Given the description of an element on the screen output the (x, y) to click on. 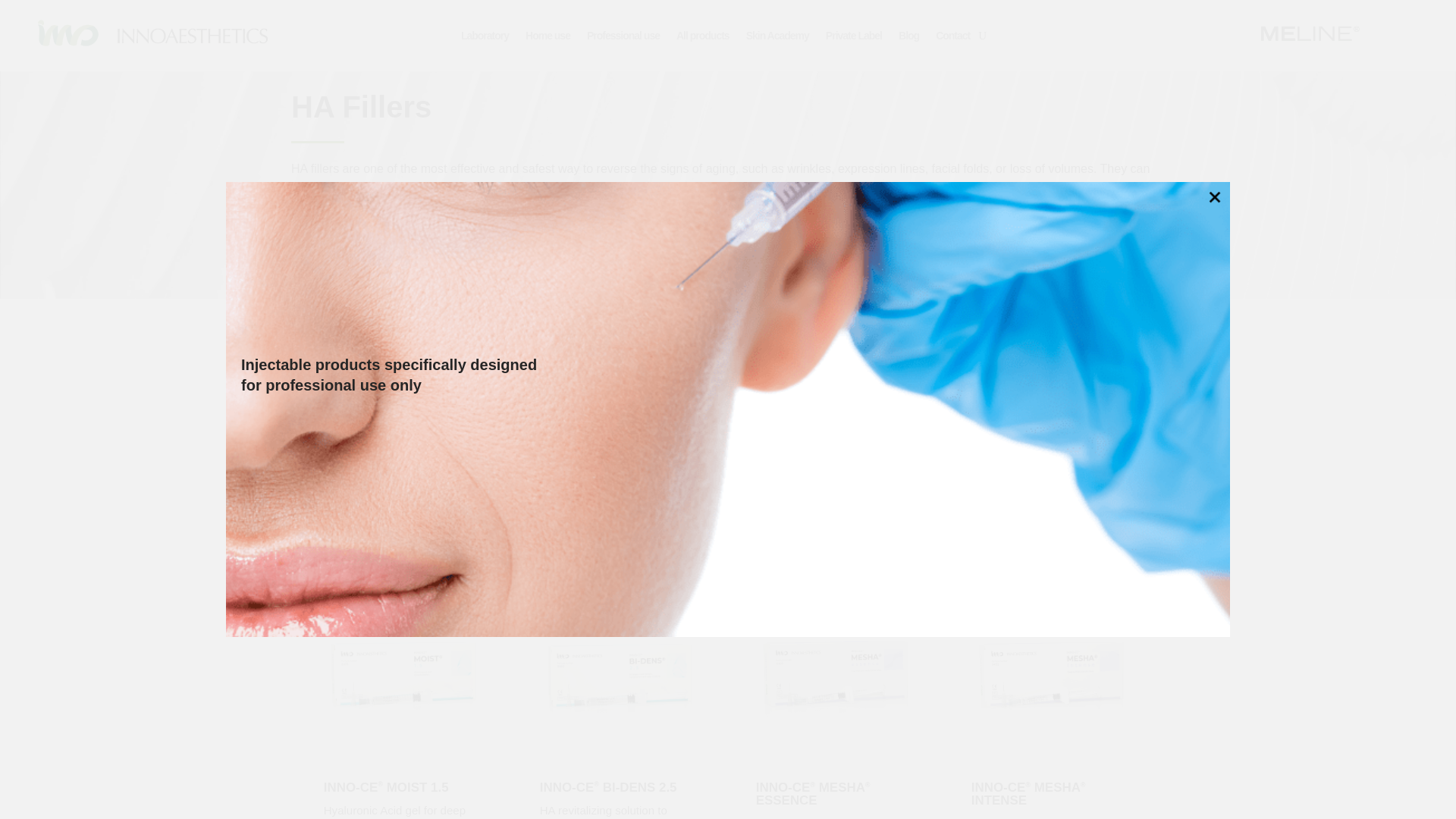
Close (1215, 196)
INNO-LOGO-NAVBAR-min (145, 32)
All products (349, 342)
Professional use (622, 35)
All products (703, 35)
Private Label (853, 35)
Skin Academy (777, 35)
